Given the description of an element on the screen output the (x, y) to click on. 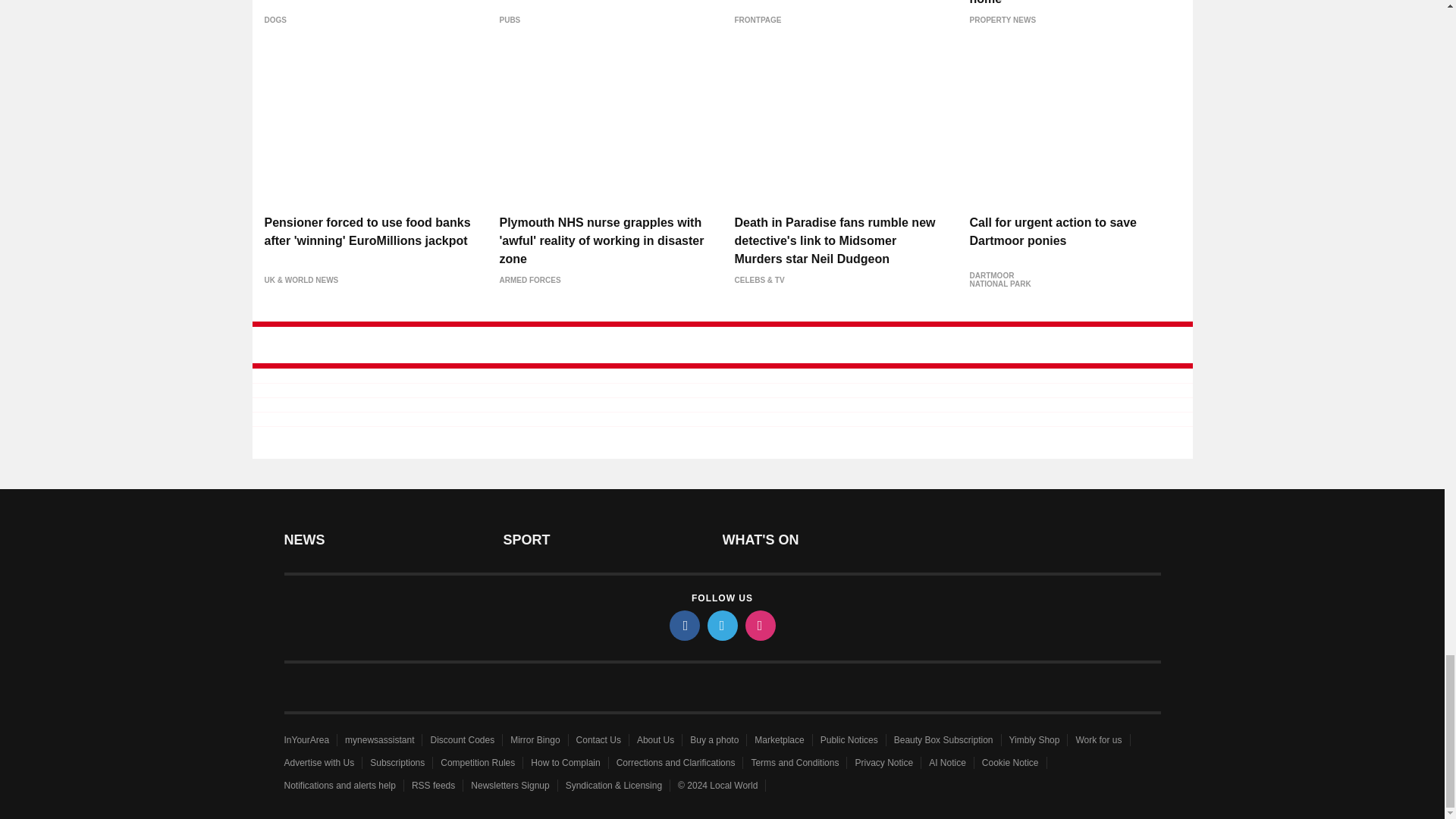
facebook (683, 625)
instagram (759, 625)
twitter (721, 625)
